Given the description of an element on the screen output the (x, y) to click on. 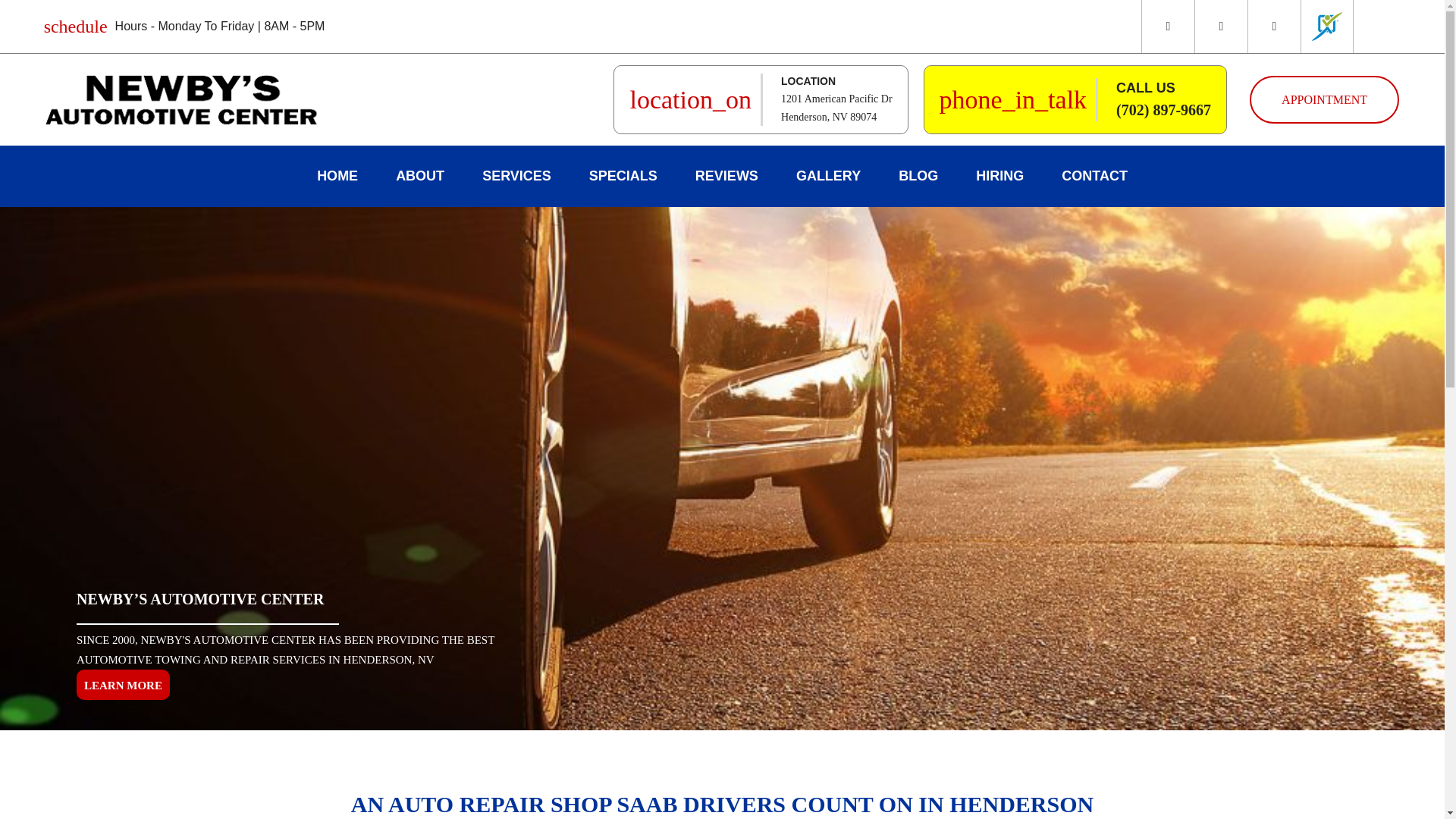
APPOINTMENT (1324, 99)
CONTACT (1094, 176)
HOME (337, 176)
SPECIALS (623, 176)
LEARN MORE (836, 107)
ABOUT (123, 684)
GALLERY (420, 176)
BLOG (828, 176)
HIRING (917, 176)
REVIEWS (999, 176)
SERVICES (727, 176)
